Given the description of an element on the screen output the (x, y) to click on. 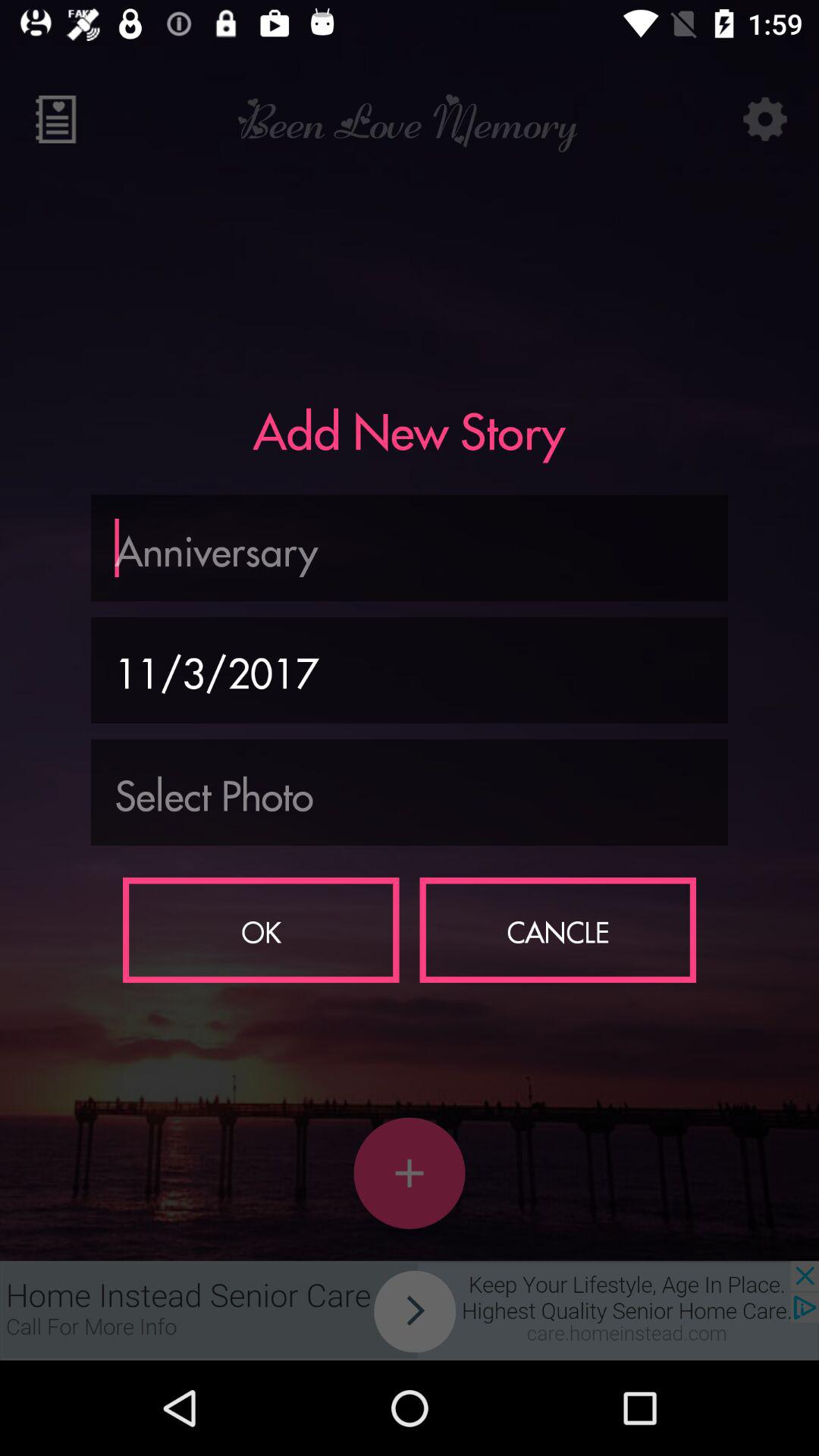
scroll to 11/3/2017 icon (409, 670)
